Given the description of an element on the screen output the (x, y) to click on. 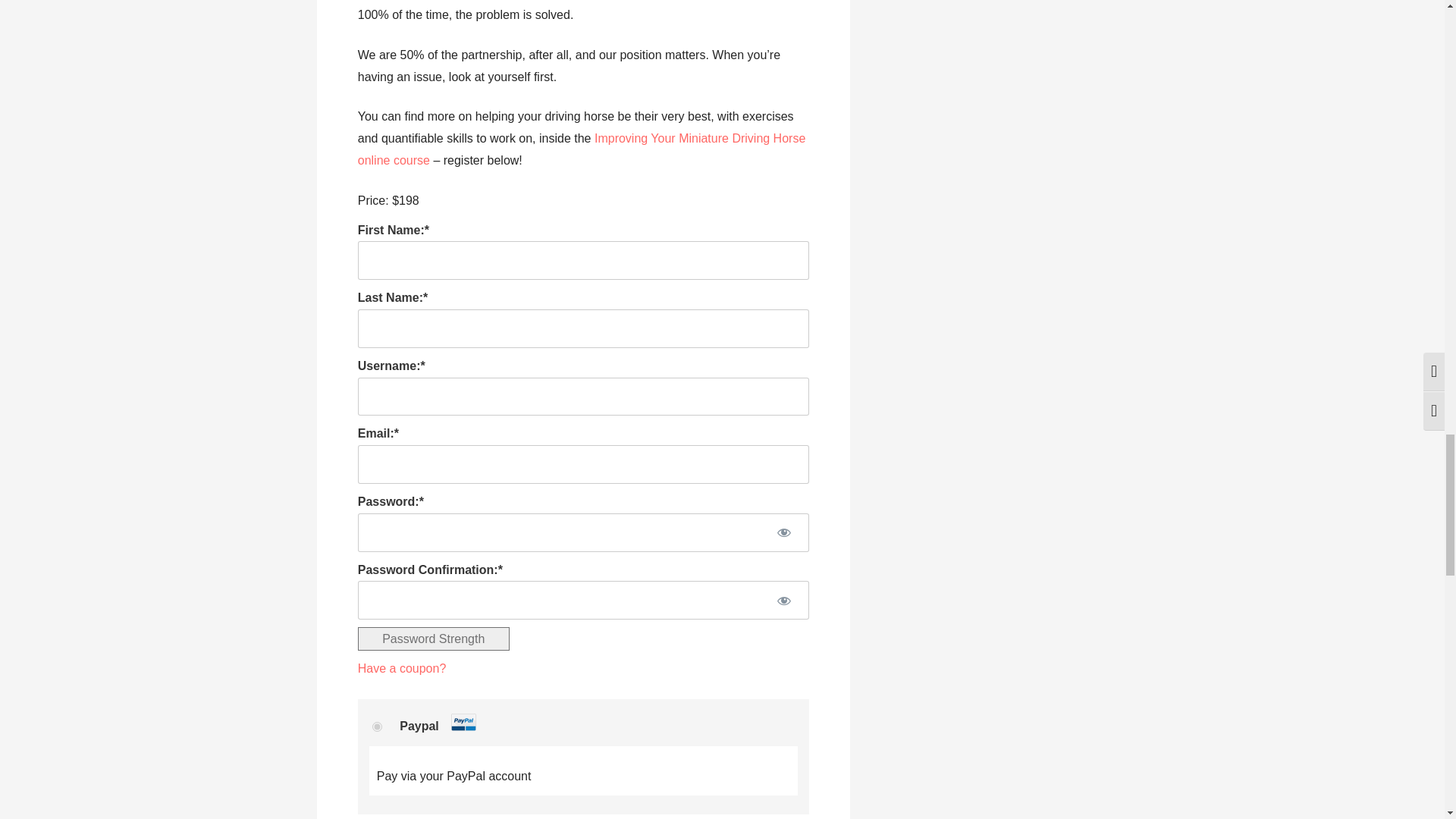
Improving Your Miniature Driving Horse online course (582, 149)
oj5py4-34l (376, 726)
Have a coupon? (402, 667)
